Given the description of an element on the screen output the (x, y) to click on. 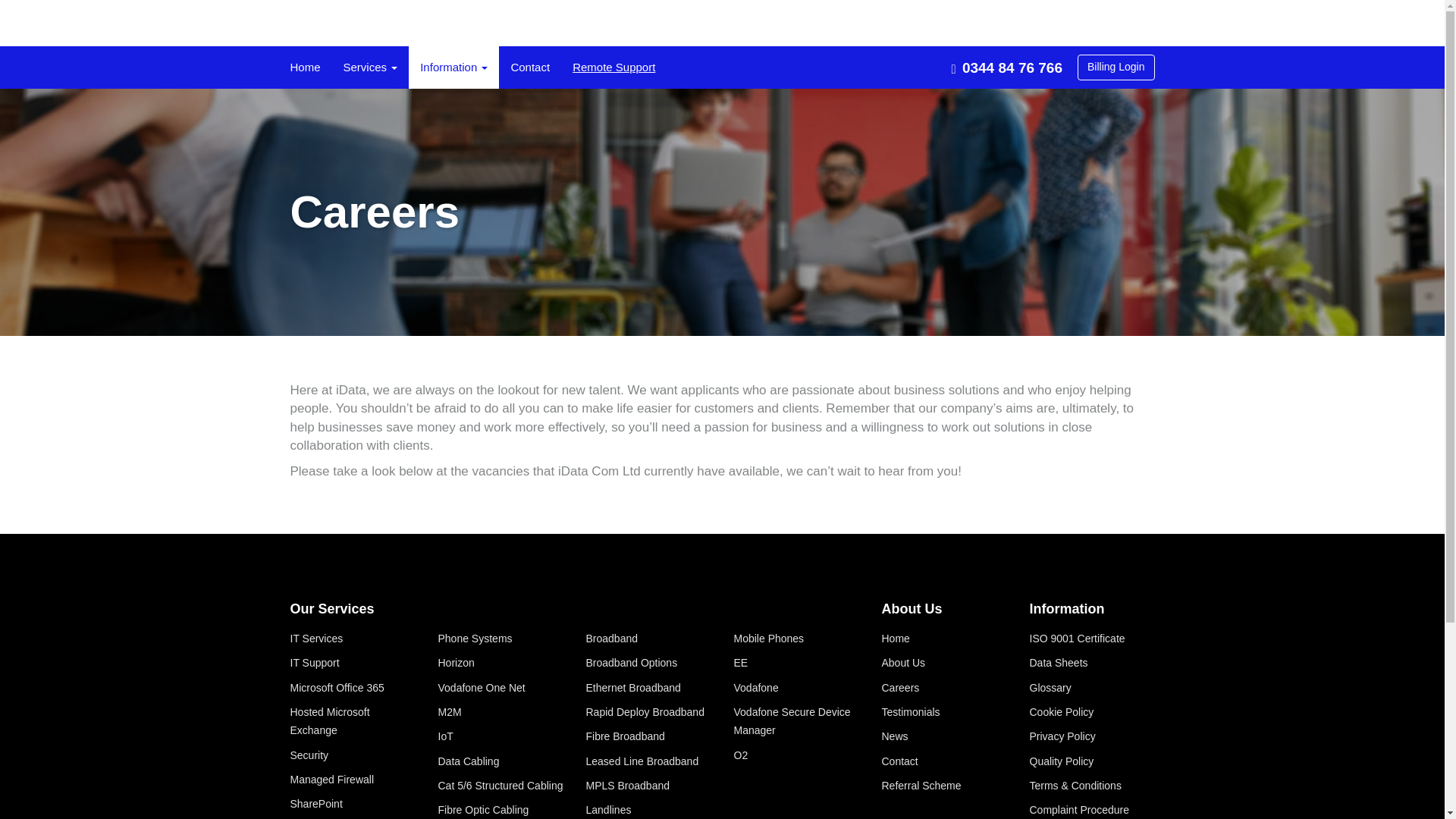
Services (370, 66)
Home (305, 66)
Information (454, 66)
